Given the description of an element on the screen output the (x, y) to click on. 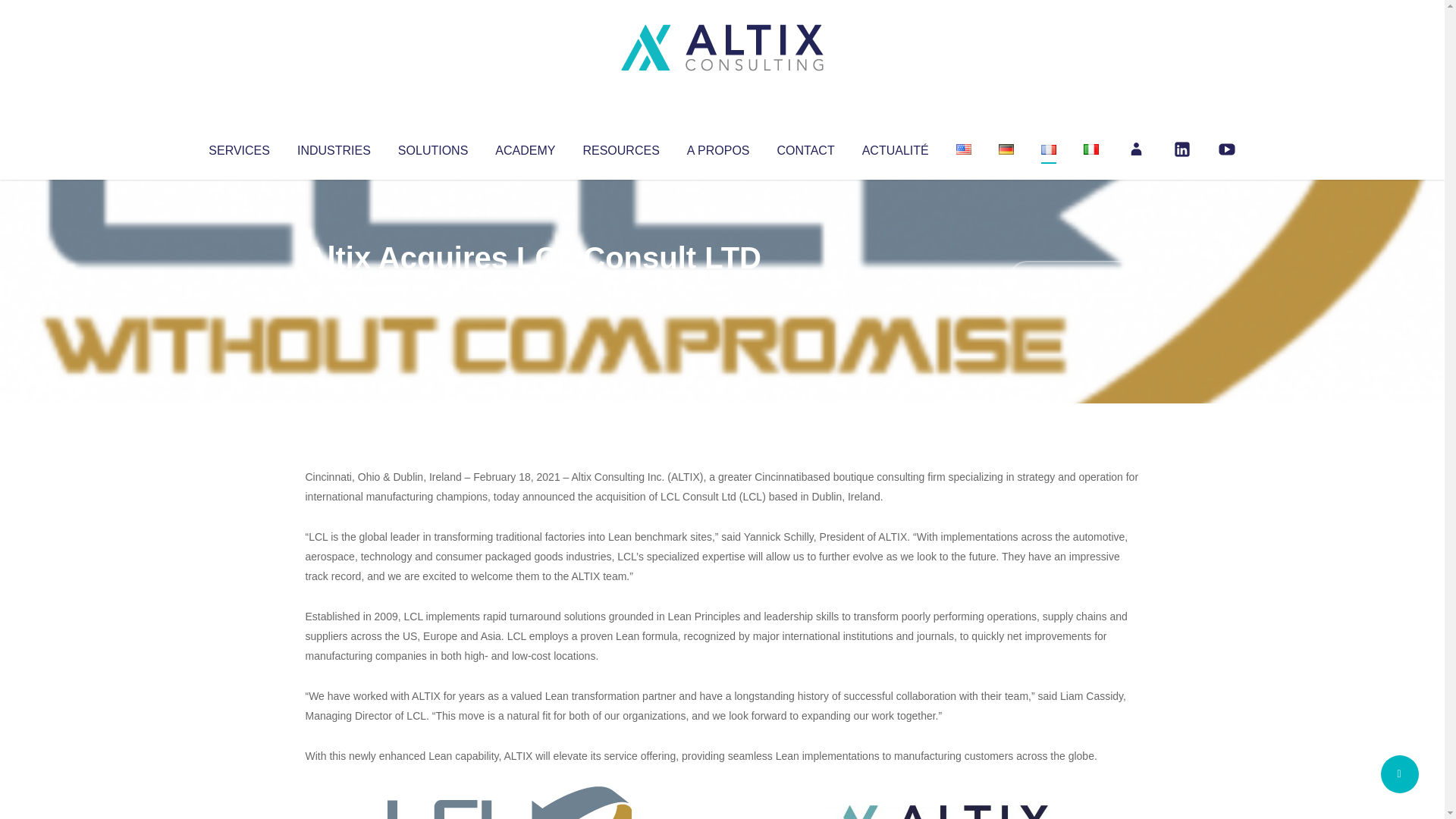
ACADEMY (524, 146)
SOLUTIONS (432, 146)
Articles par Altix (333, 287)
RESOURCES (620, 146)
No Comments (1073, 278)
SERVICES (238, 146)
Uncategorized (530, 287)
A PROPOS (718, 146)
Altix (333, 287)
INDUSTRIES (334, 146)
